Given the description of an element on the screen output the (x, y) to click on. 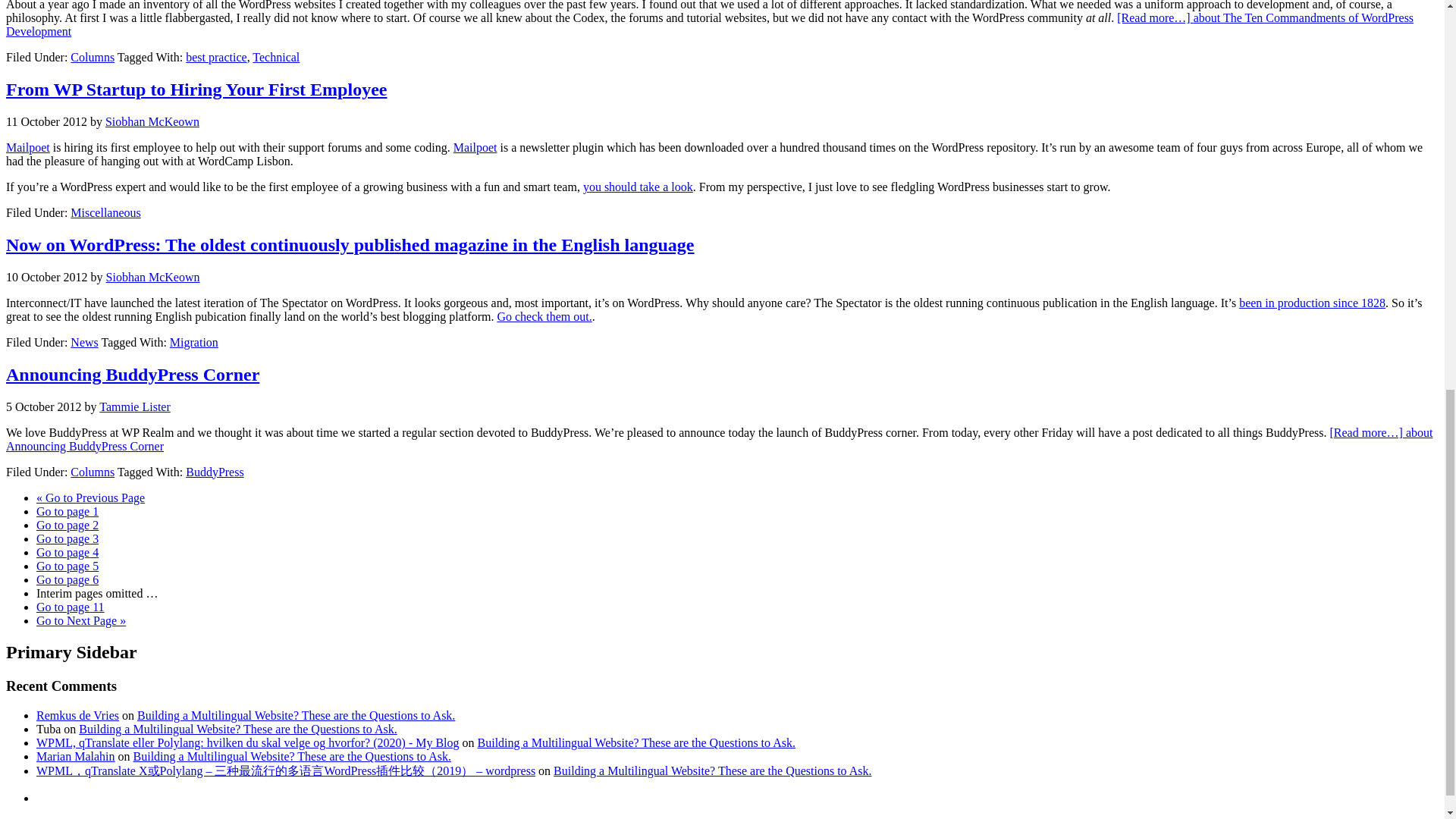
Columns (92, 56)
Miscellaneous (104, 212)
Mailpoet (27, 146)
Technical (275, 56)
Mailpoet (474, 146)
Mailpoet (474, 146)
you should take a look (638, 186)
best practice (216, 56)
Mailpoet (27, 146)
Siobhan McKeown (151, 121)
From WP Startup to Hiring Your First Employee (196, 89)
